Given the description of an element on the screen output the (x, y) to click on. 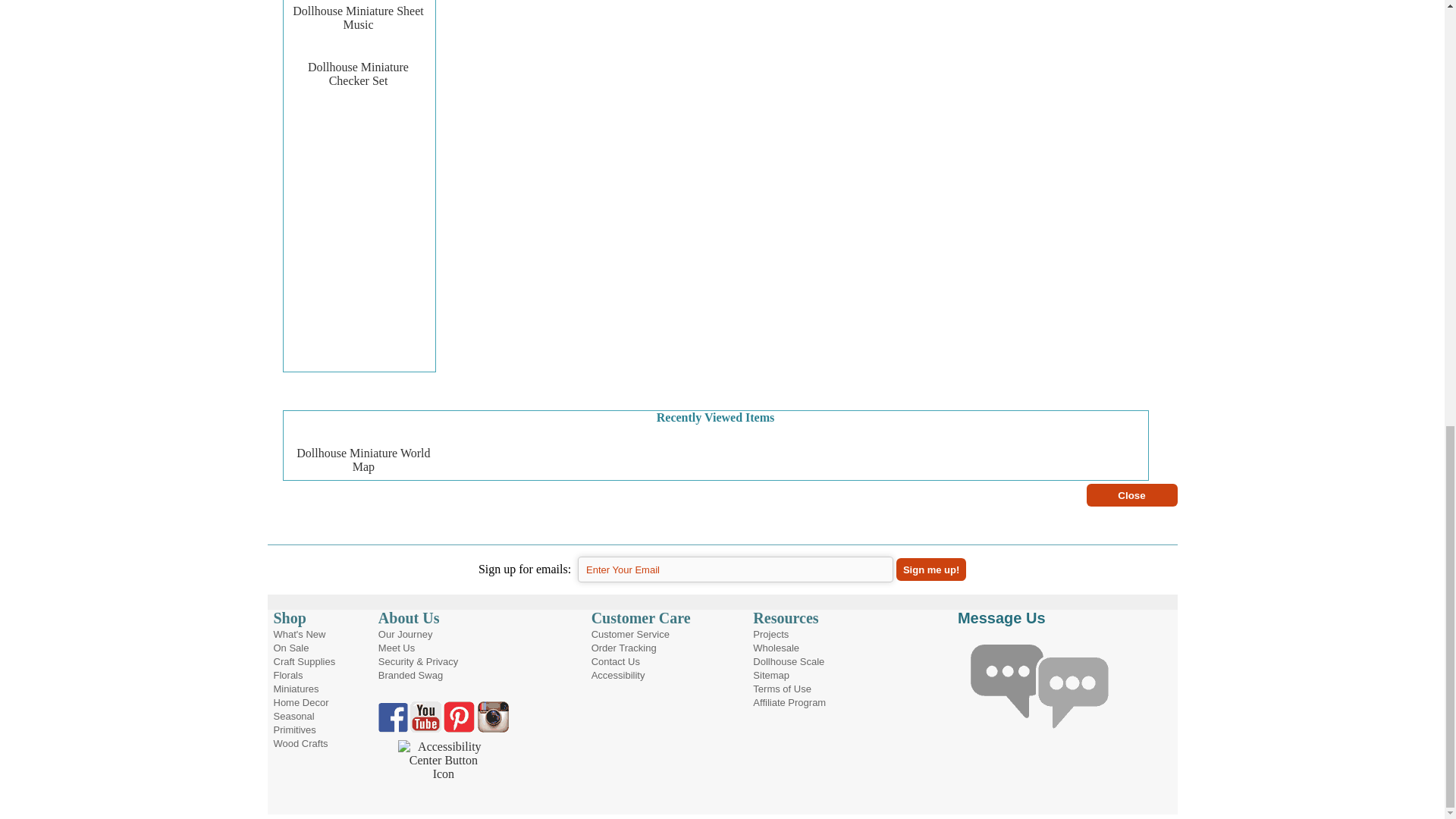
Enter Your Email (735, 569)
Sign me up! (931, 568)
